Given the description of an element on the screen output the (x, y) to click on. 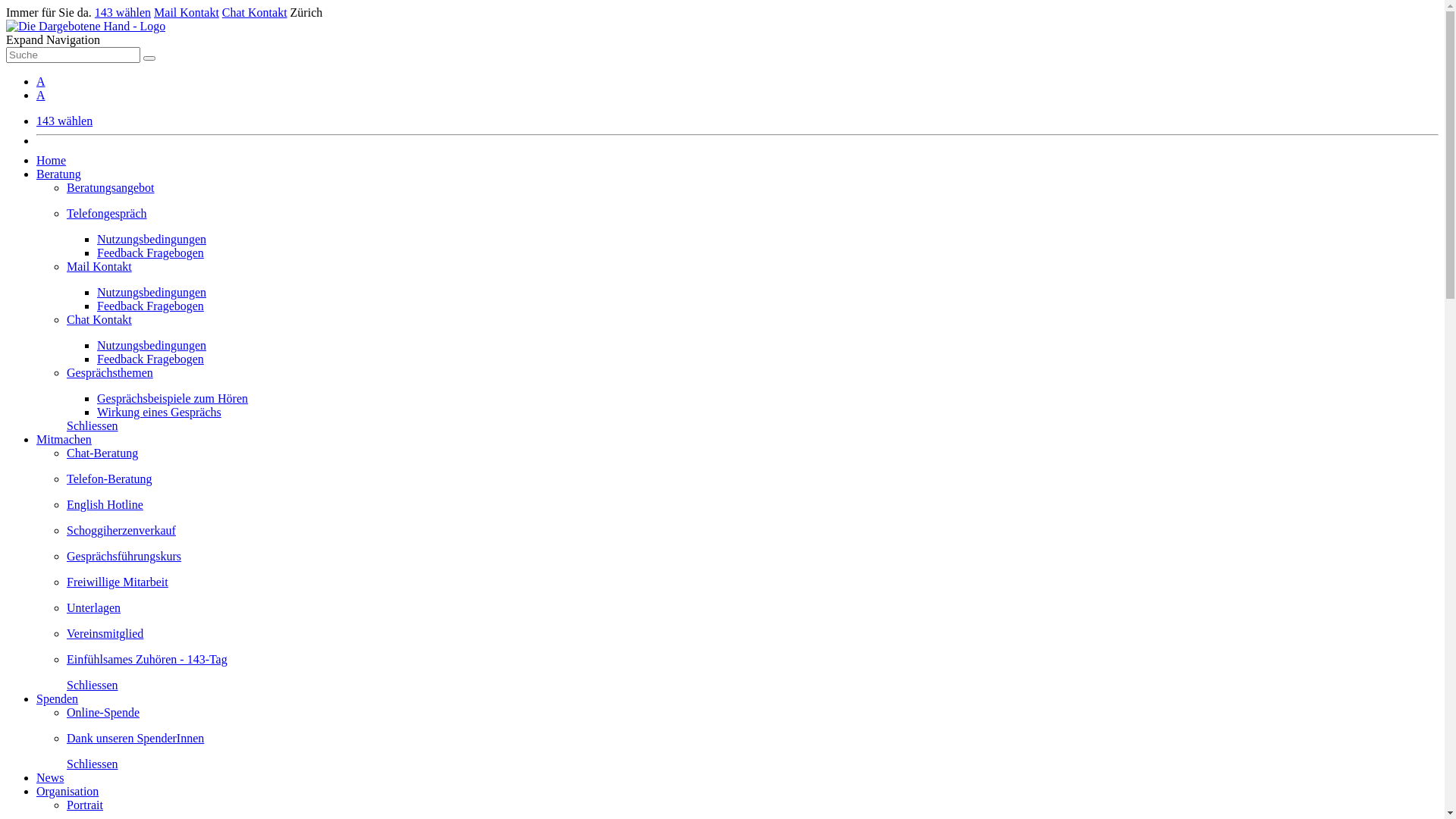
Schoggiherzenverkauf Element type: text (752, 536)
Expand Navigation Element type: text (53, 39)
Spenden Element type: text (57, 698)
Chat Kontakt Element type: text (752, 325)
Mail Kontakt Element type: text (752, 272)
Beratung Element type: text (58, 173)
English Hotline Element type: text (752, 511)
Schliessen Element type: text (92, 425)
Chat-Beratung Element type: text (752, 459)
Feedback Fragebogen Element type: text (150, 358)
Schliessen Element type: text (92, 763)
Nutzungsbedingungen Element type: text (151, 291)
Mitmachen Element type: text (63, 439)
Dank unseren SpenderInnen Element type: text (752, 744)
Mail Kontakt Element type: text (186, 12)
Chat Kontakt Element type: text (254, 12)
Nutzungsbedingungen Element type: text (151, 344)
Feedback Fragebogen Element type: text (150, 252)
News Element type: text (49, 777)
Telefon-Beratung Element type: text (752, 485)
Nutzungsbedingungen Element type: text (151, 238)
Feedback Fragebogen Element type: text (150, 305)
Organisation Element type: text (67, 790)
A Element type: text (40, 81)
Unterlagen Element type: text (752, 614)
Online-Spende Element type: text (752, 718)
Schliessen Element type: text (92, 684)
A Element type: text (40, 94)
Beratungsangebot Element type: text (752, 194)
Vereinsmitglied Element type: text (752, 639)
Freiwillige Mitarbeit Element type: text (752, 588)
Home Element type: text (50, 159)
